Given the description of an element on the screen output the (x, y) to click on. 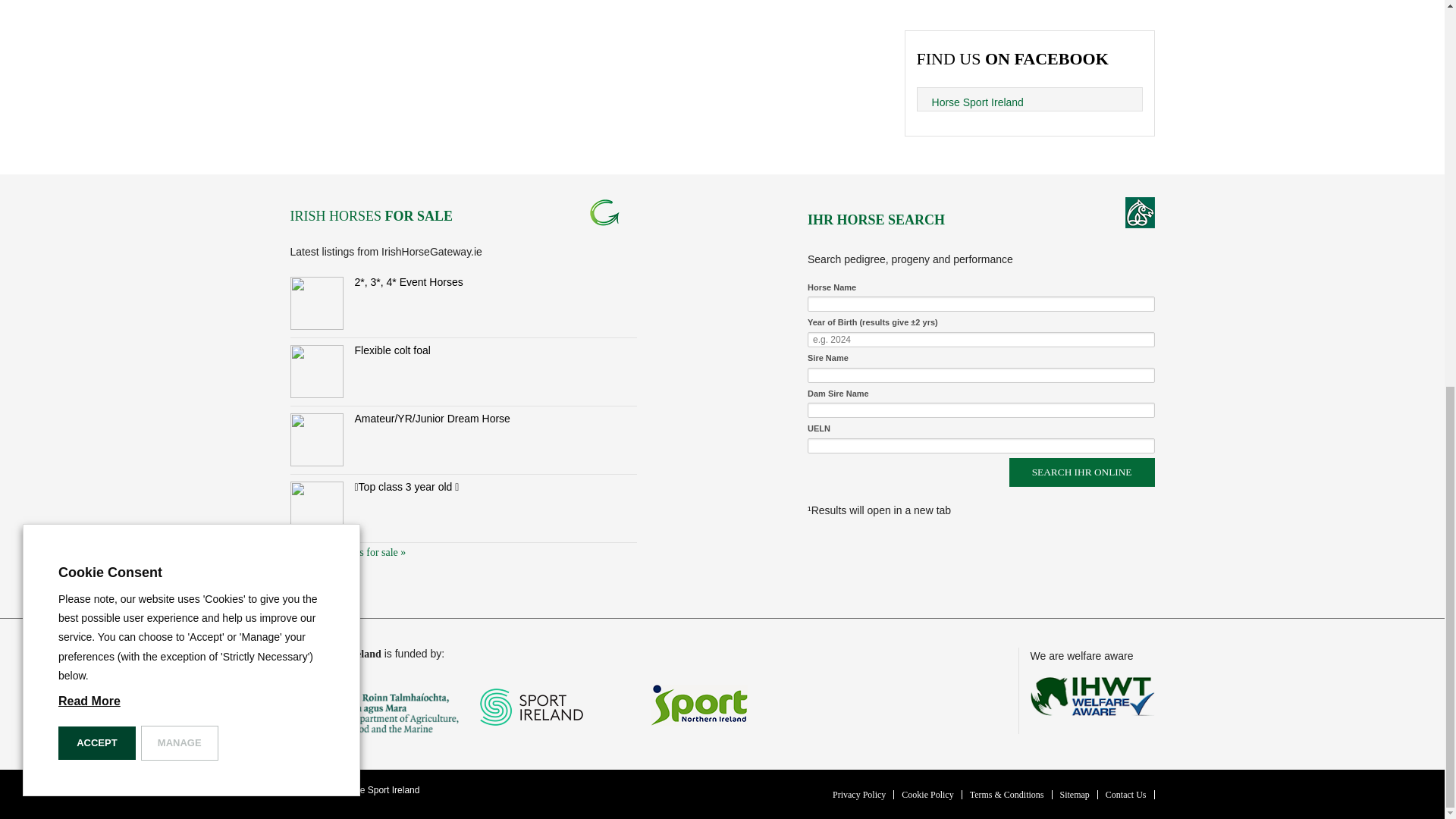
Search IHR Online (1081, 471)
